Given the description of an element on the screen output the (x, y) to click on. 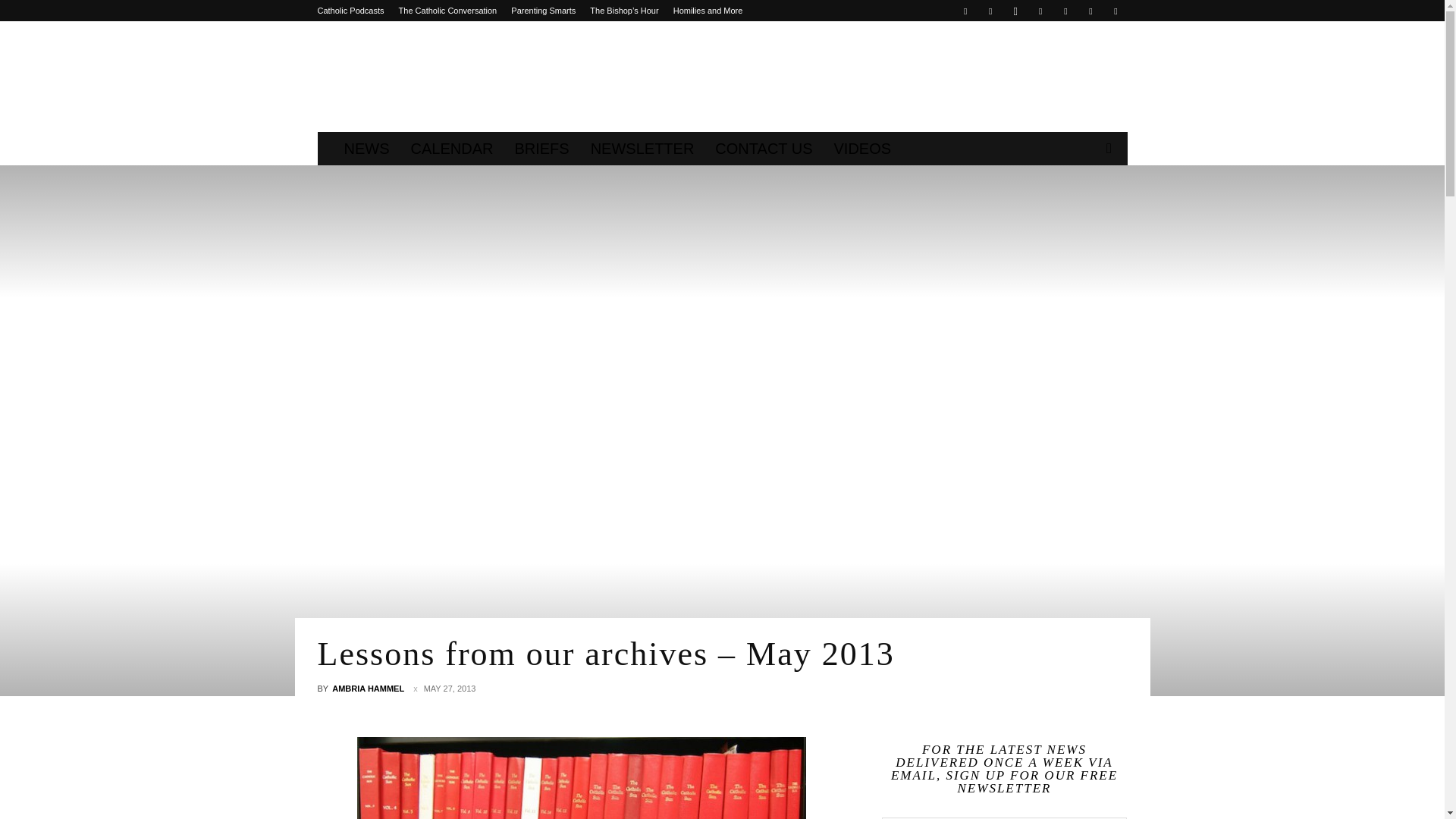
Facebook (964, 10)
The Catholic Conversation (447, 10)
NEWS (366, 148)
Instagram (1015, 10)
Twitter (1065, 10)
Catholic Podcasts (350, 10)
Linkedin (1040, 10)
Parenting Smarts (543, 10)
Homilies and More (707, 10)
Flickr (989, 10)
